Given the description of an element on the screen output the (x, y) to click on. 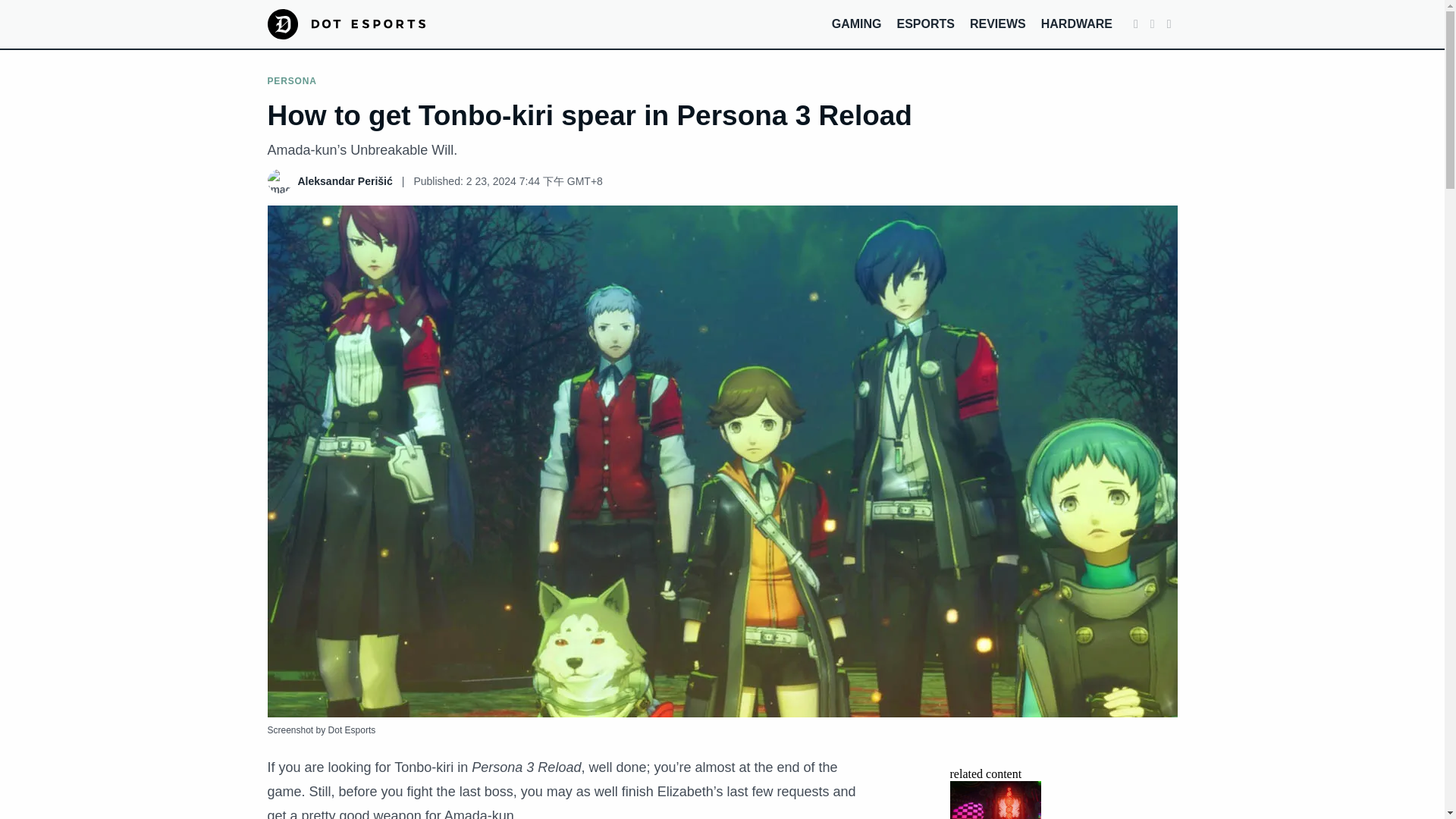
HARDWARE (1076, 23)
REVIEWS (997, 23)
ESPORTS (924, 23)
GAMING (856, 23)
